Given the description of an element on the screen output the (x, y) to click on. 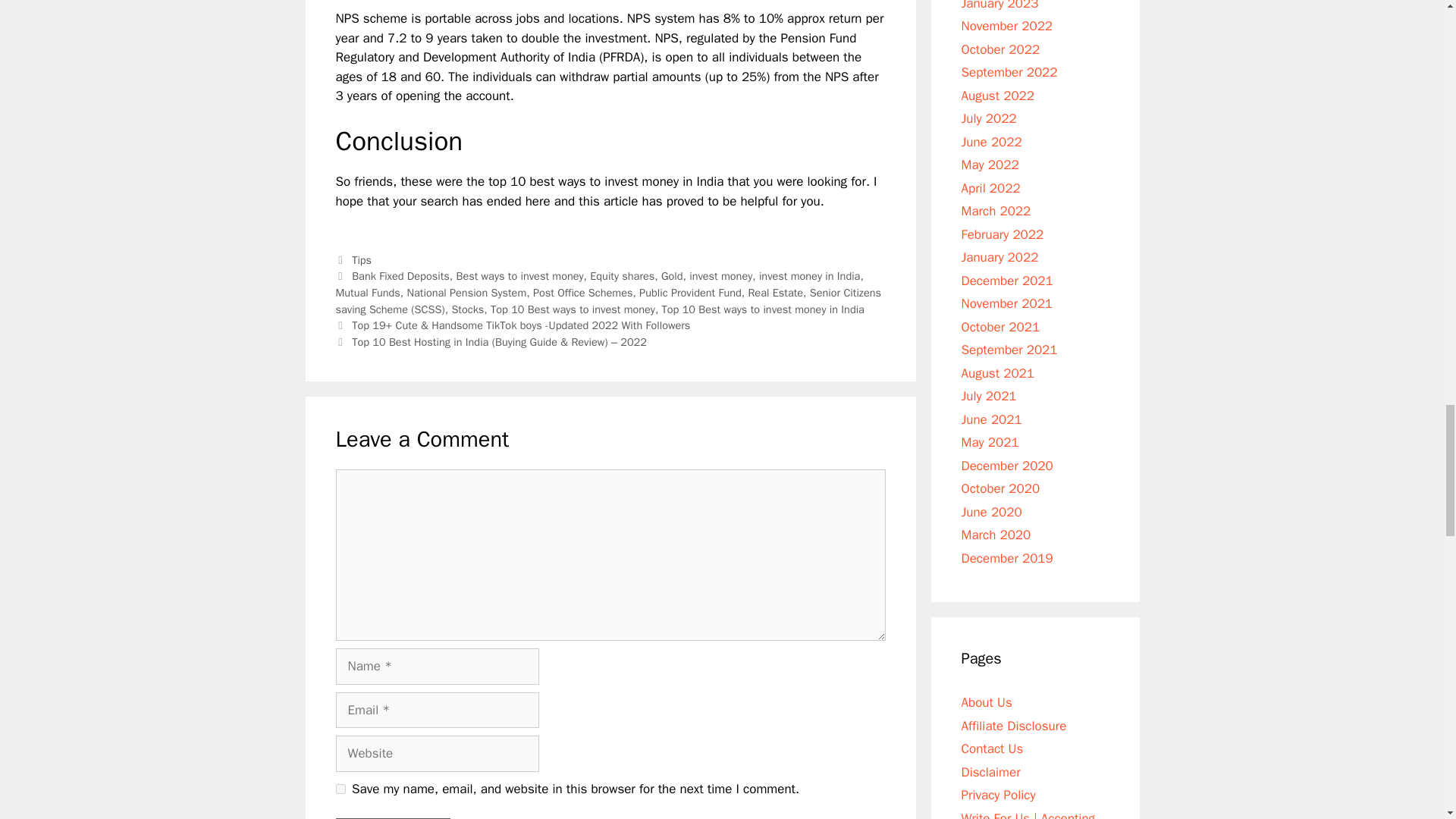
National Pension System (467, 292)
Gold (671, 275)
invest money (720, 275)
Equity shares (621, 275)
Top 10 Best ways to invest money in India (763, 309)
invest money in India (809, 275)
Best ways to invest money (519, 275)
Real Estate (775, 292)
Top 10 Best ways to invest money (572, 309)
Public Provident Fund (690, 292)
